Given the description of an element on the screen output the (x, y) to click on. 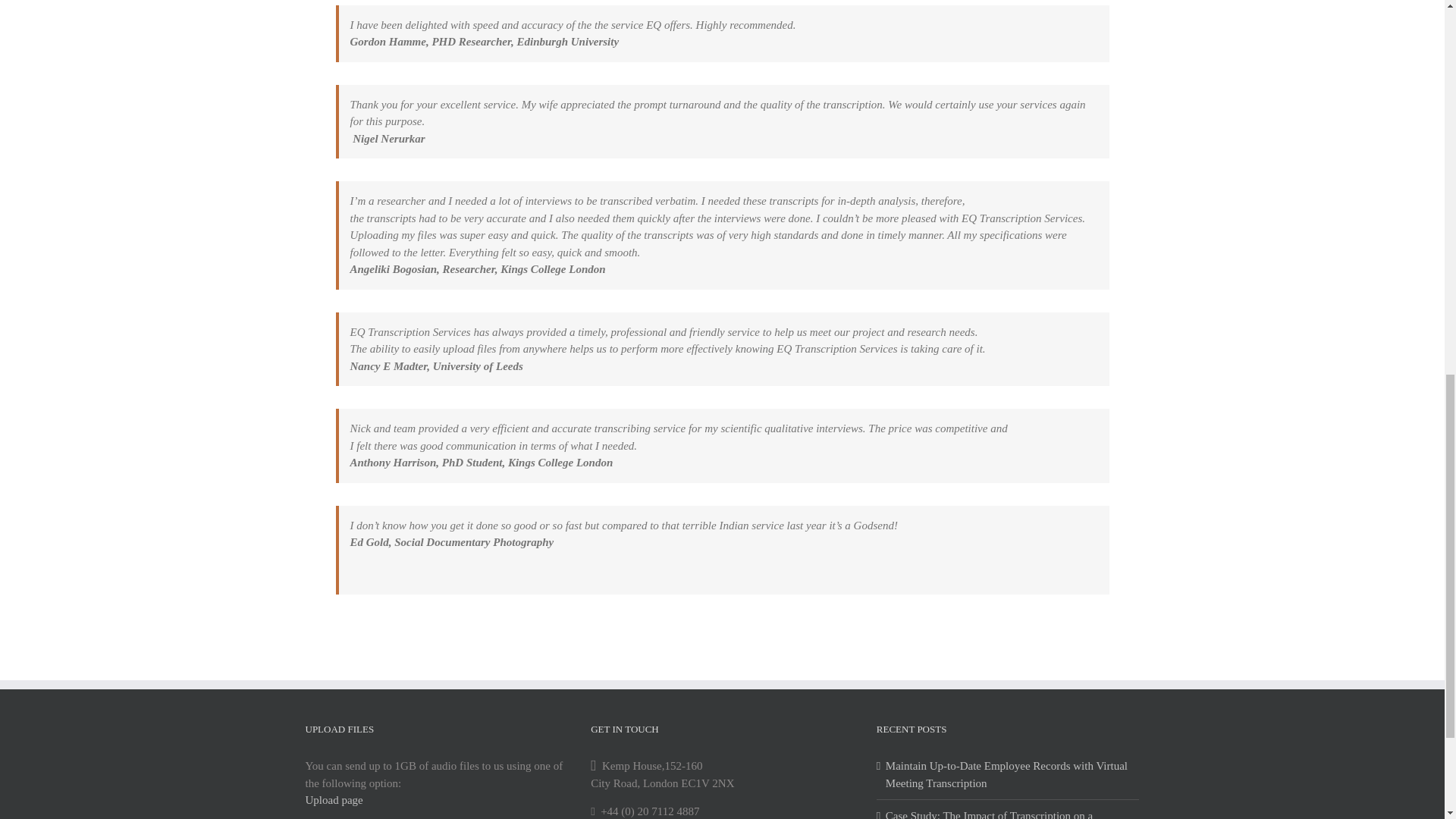
Upload page (333, 799)
